Given the description of an element on the screen output the (x, y) to click on. 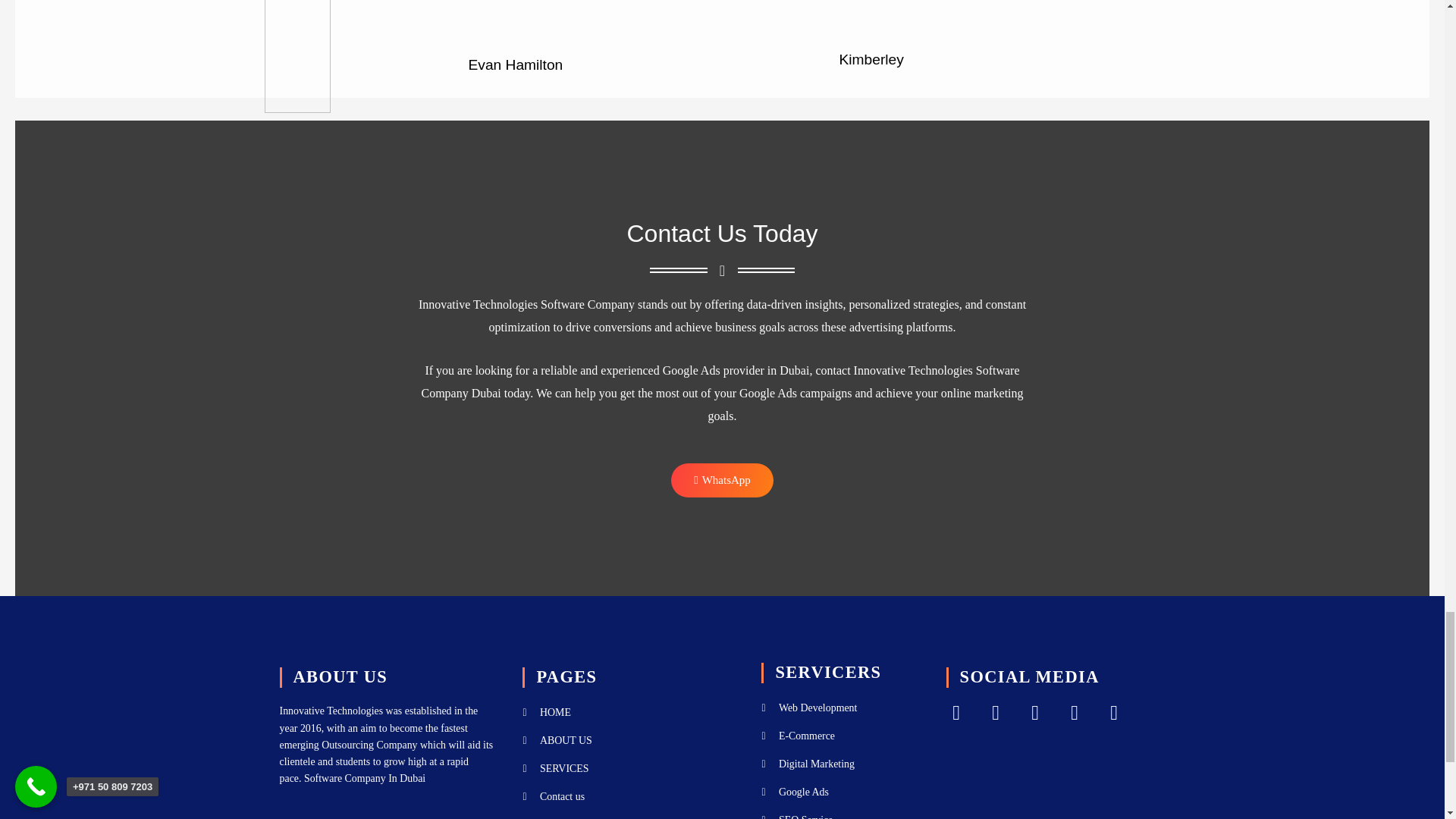
Youtube (1074, 712)
HOME (631, 712)
Contact us (631, 796)
Facebook (956, 712)
SERVICES (631, 768)
Linkedin (1113, 712)
Twitter (995, 712)
ABOUT US (631, 741)
WhatsApp (722, 480)
Google-plus (1035, 712)
